Given the description of an element on the screen output the (x, y) to click on. 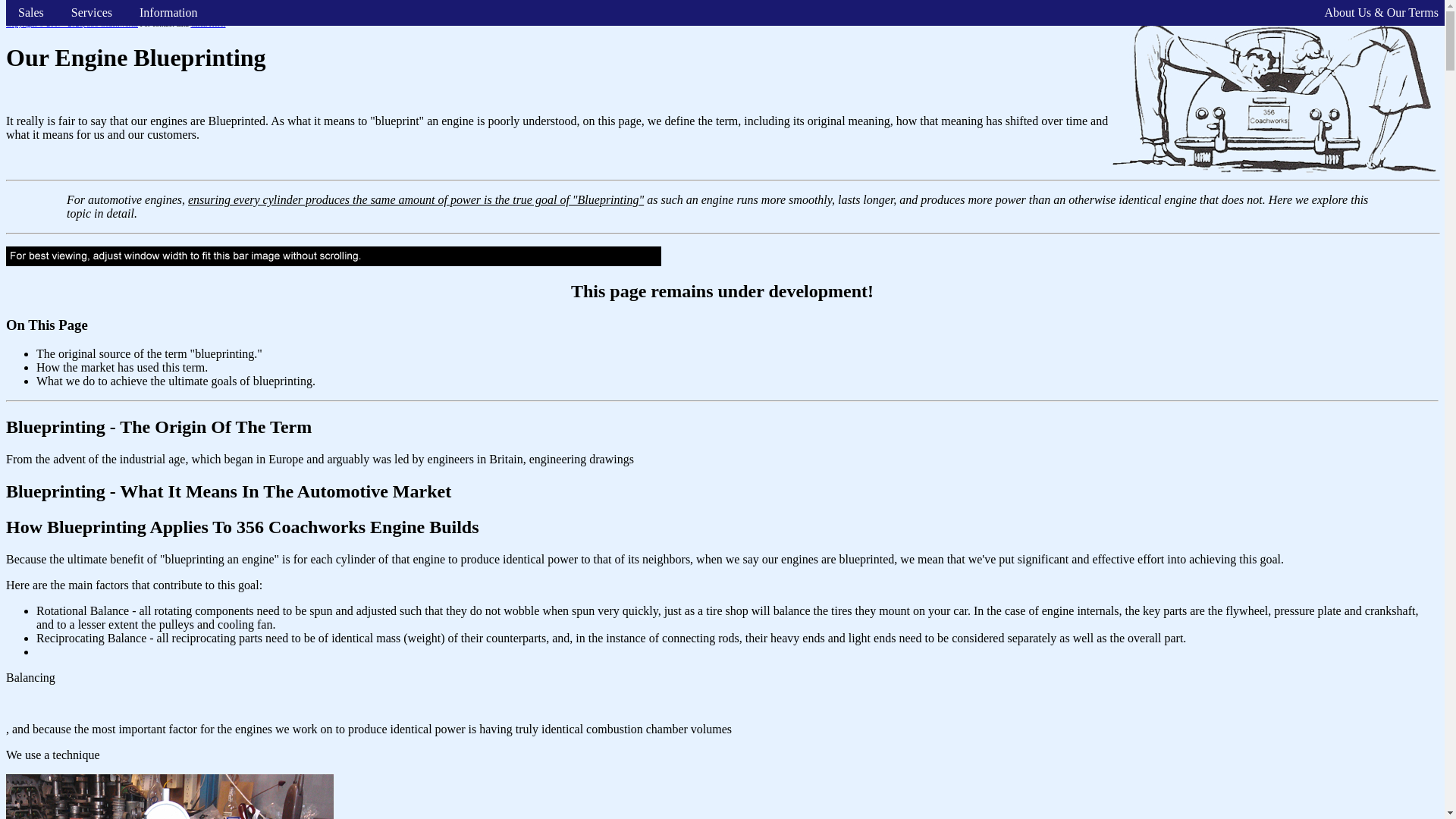
Services Element type: text (91, 12)
Click Here. Element type: text (207, 23)
Information Element type: text (168, 12)
About Us & Our Terms Element type: text (1380, 12)
Sales Element type: text (31, 12)
